Given the description of an element on the screen output the (x, y) to click on. 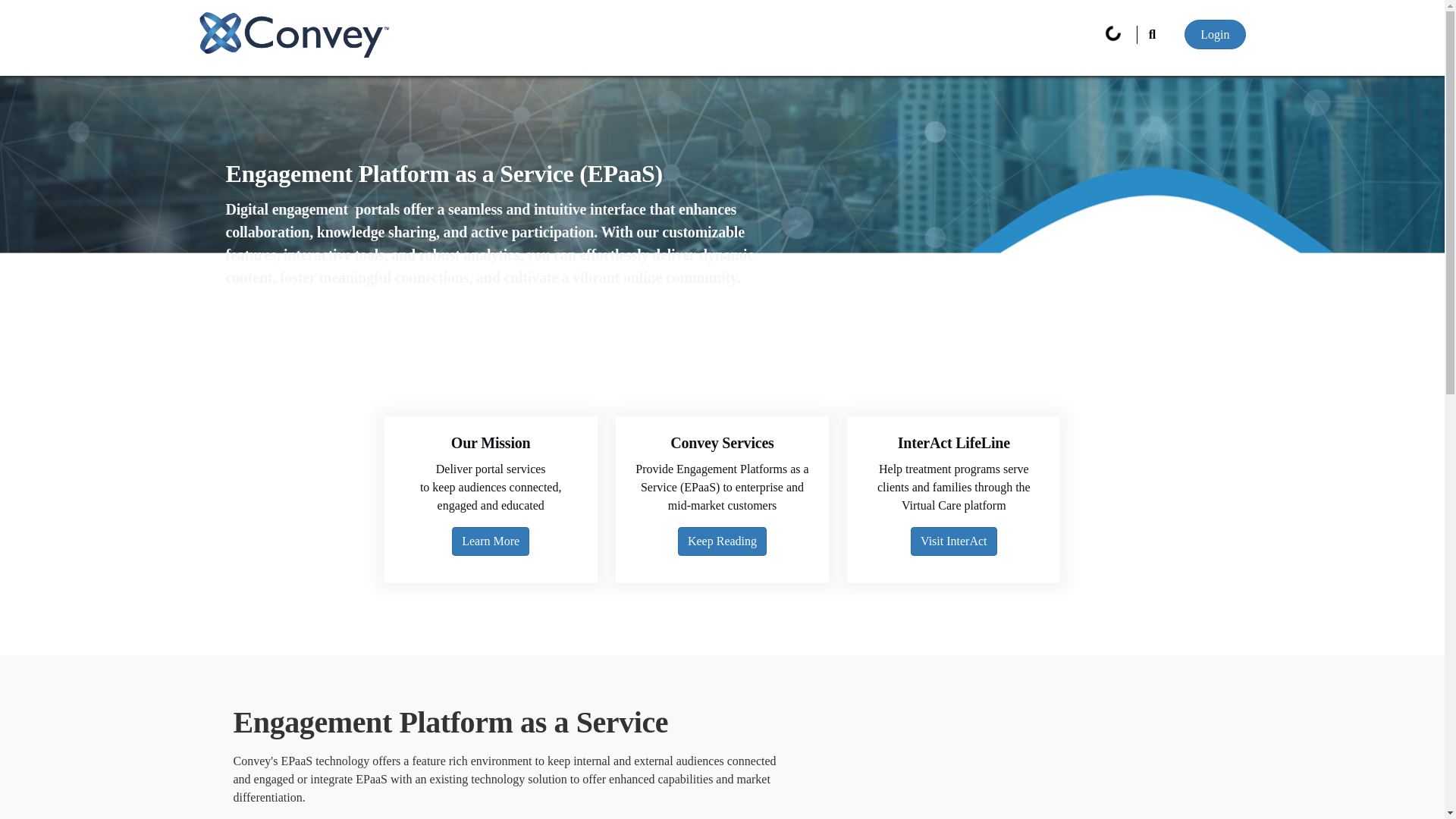
Keep Reading (722, 541)
Learn More (490, 541)
Login (1214, 34)
Visit InterAct (953, 541)
